Given the description of an element on the screen output the (x, y) to click on. 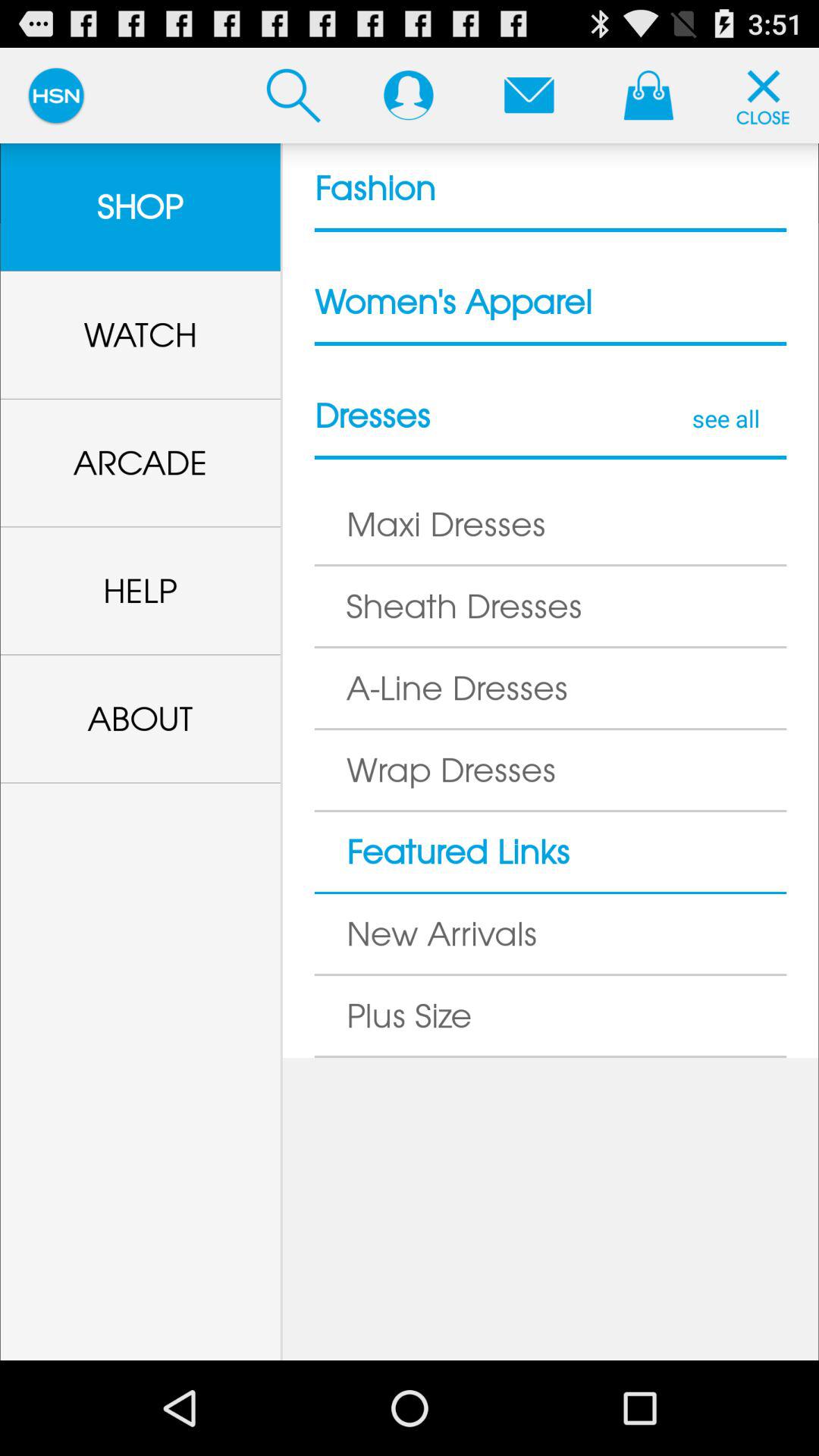
open bag (648, 95)
